Given the description of an element on the screen output the (x, y) to click on. 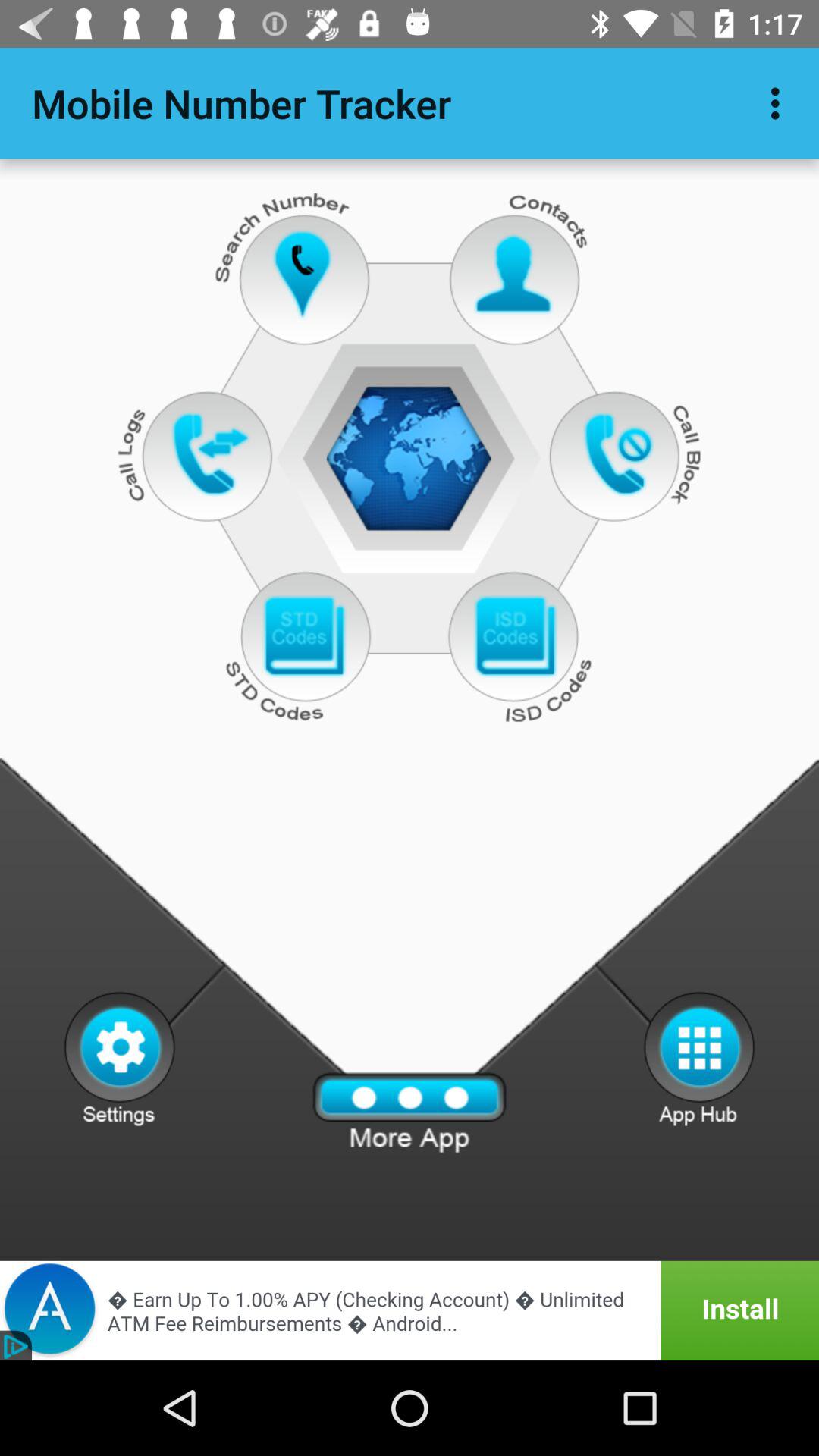
select std codes (303, 637)
